Given the description of an element on the screen output the (x, y) to click on. 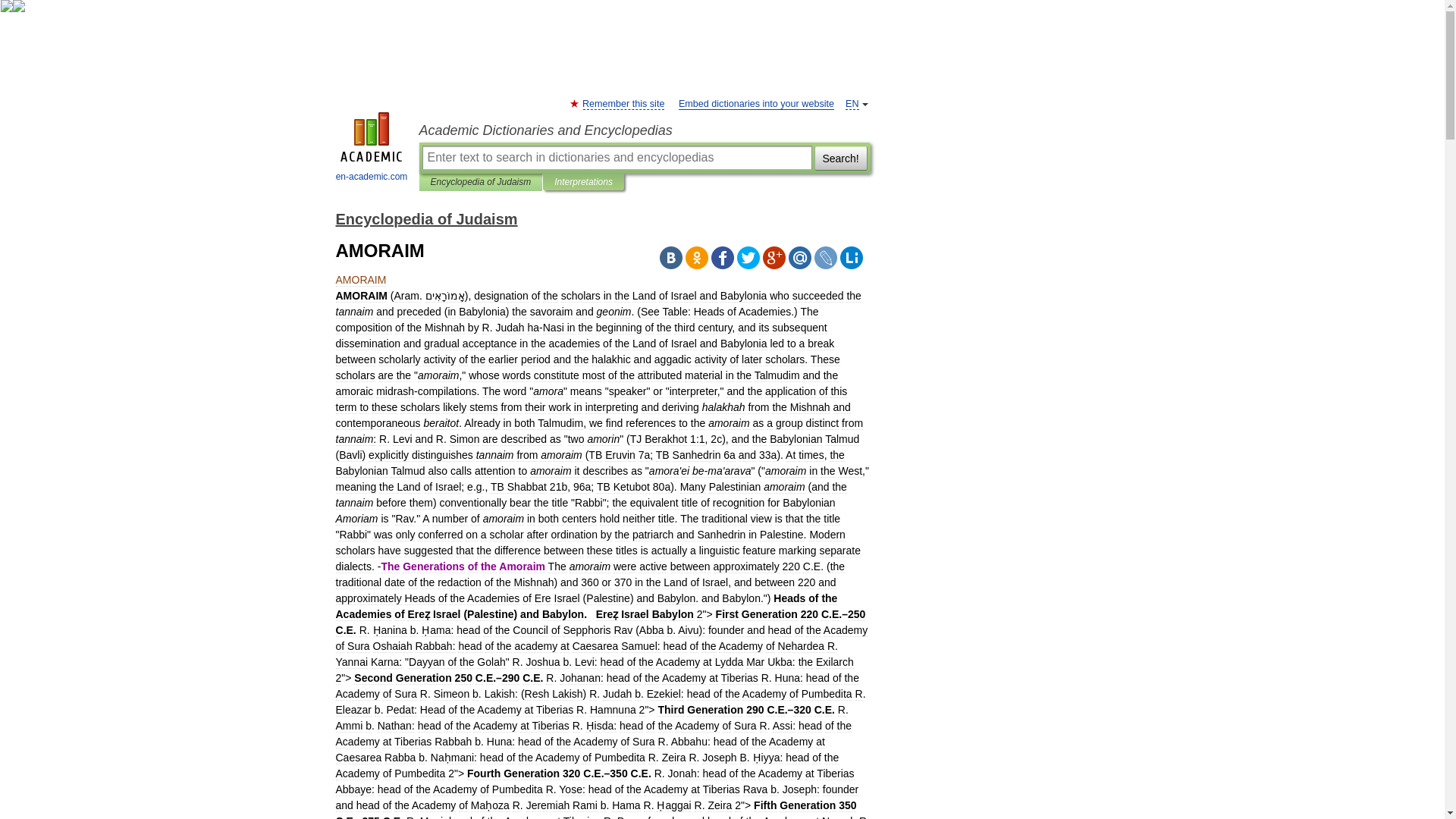
Remember this site (623, 103)
Encyclopedia of Judaism (425, 218)
Encyclopedia of Judaism (480, 181)
Interpretations (583, 181)
EN (852, 103)
Embed dictionaries into your website (756, 103)
Search! (840, 157)
Academic Dictionaries and Encyclopedias (644, 130)
Enter text to search in dictionaries and encyclopedias (616, 157)
en-academic.com (371, 148)
